Given the description of an element on the screen output the (x, y) to click on. 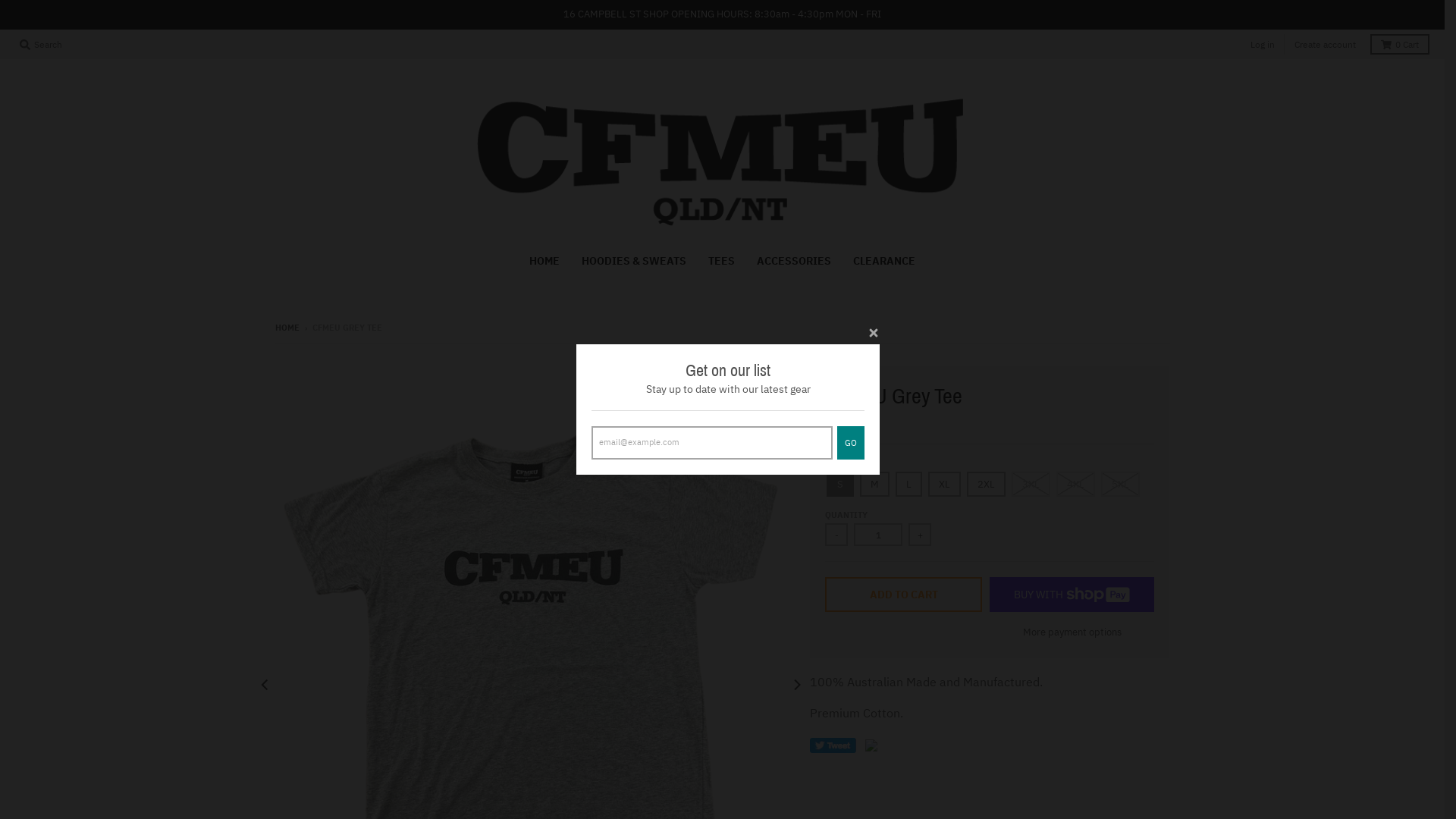
TEES Element type: text (721, 260)
HOME Element type: text (544, 260)
HOODIES & SWEATS Element type: text (633, 260)
+ Element type: text (919, 534)
HOME Element type: text (286, 327)
ADD TO CART Element type: text (903, 594)
Log in Element type: text (1262, 44)
CLEARANCE Element type: text (884, 260)
- Element type: text (836, 534)
Tweet Element type: text (832, 745)
More payment options Element type: text (1071, 632)
Search Element type: text (40, 44)
0 Cart Element type: text (1399, 44)
ACCESSORIES Element type: text (793, 260)
Create account Element type: text (1324, 44)
GO Element type: text (850, 442)
